Given the description of an element on the screen output the (x, y) to click on. 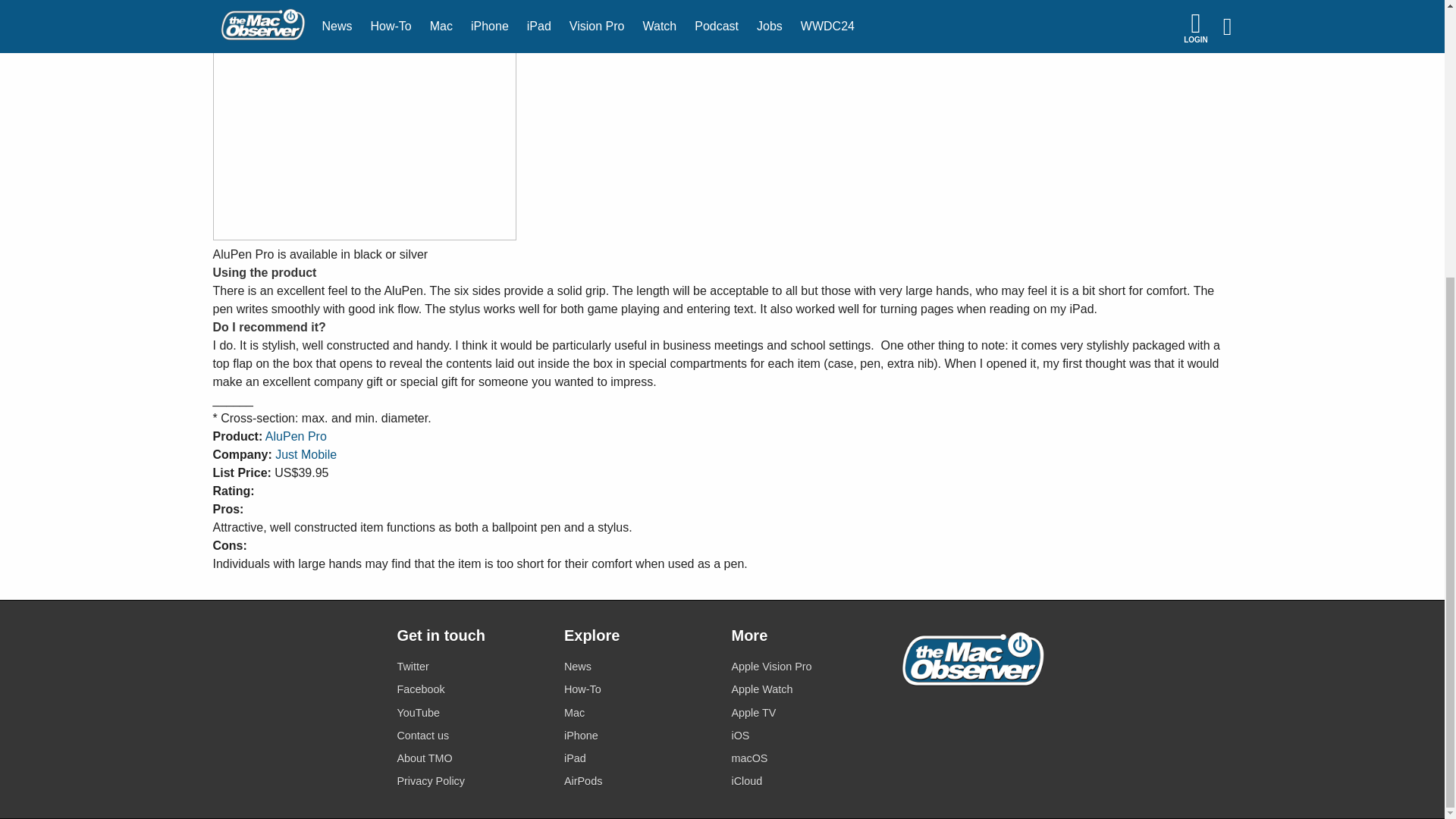
Facebook (471, 689)
How-To (638, 689)
Contact us (471, 735)
Apple Watch (805, 689)
About TMO (471, 758)
AirPods (638, 781)
News (638, 666)
Just Mobile (305, 454)
macOS (805, 758)
iPad (638, 758)
iOS (805, 735)
Twitter (471, 666)
Apple TV (805, 711)
iCloud (805, 781)
Mac (638, 711)
